Given the description of an element on the screen output the (x, y) to click on. 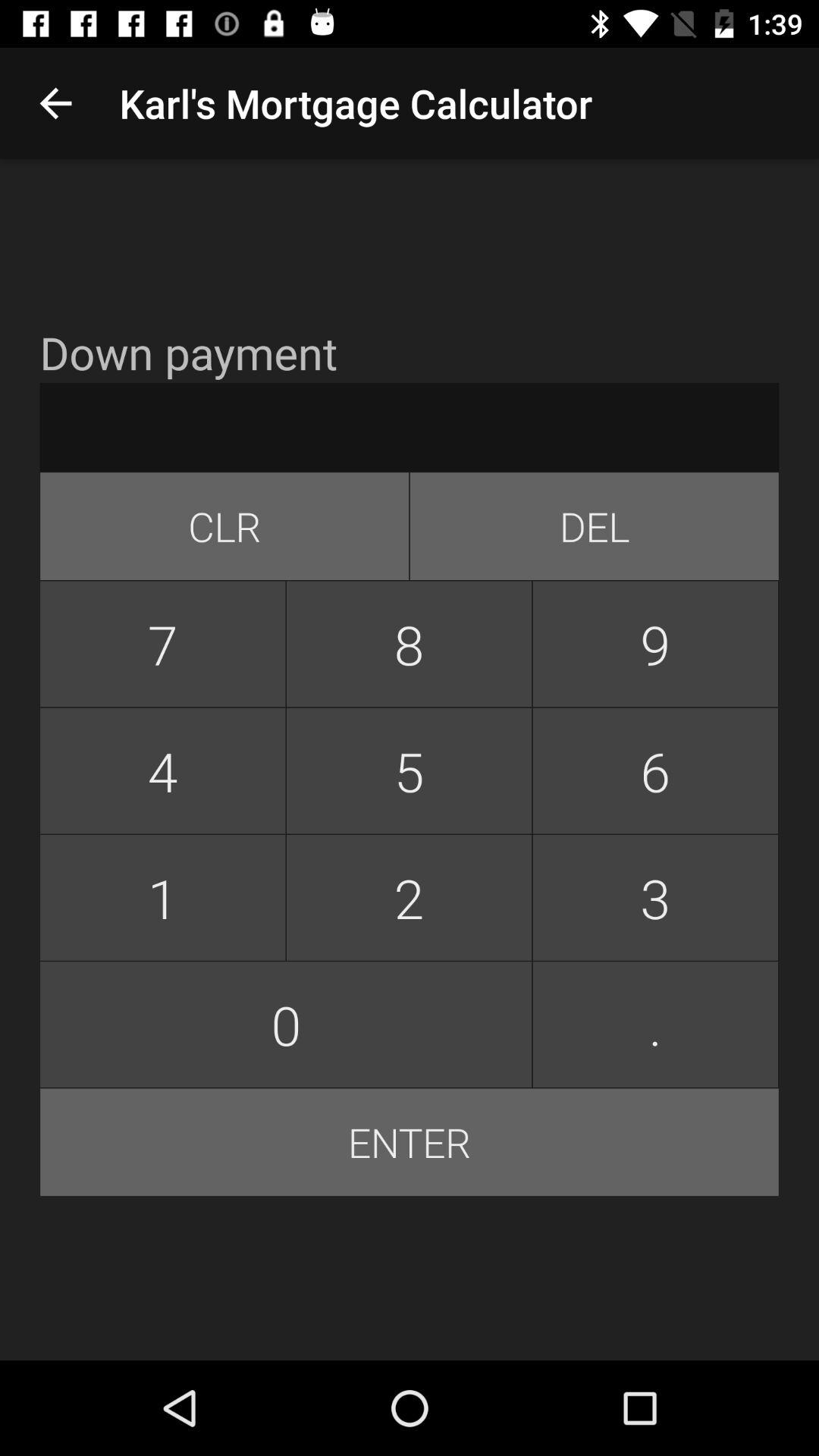
press the icon at the top left corner (55, 103)
